Given the description of an element on the screen output the (x, y) to click on. 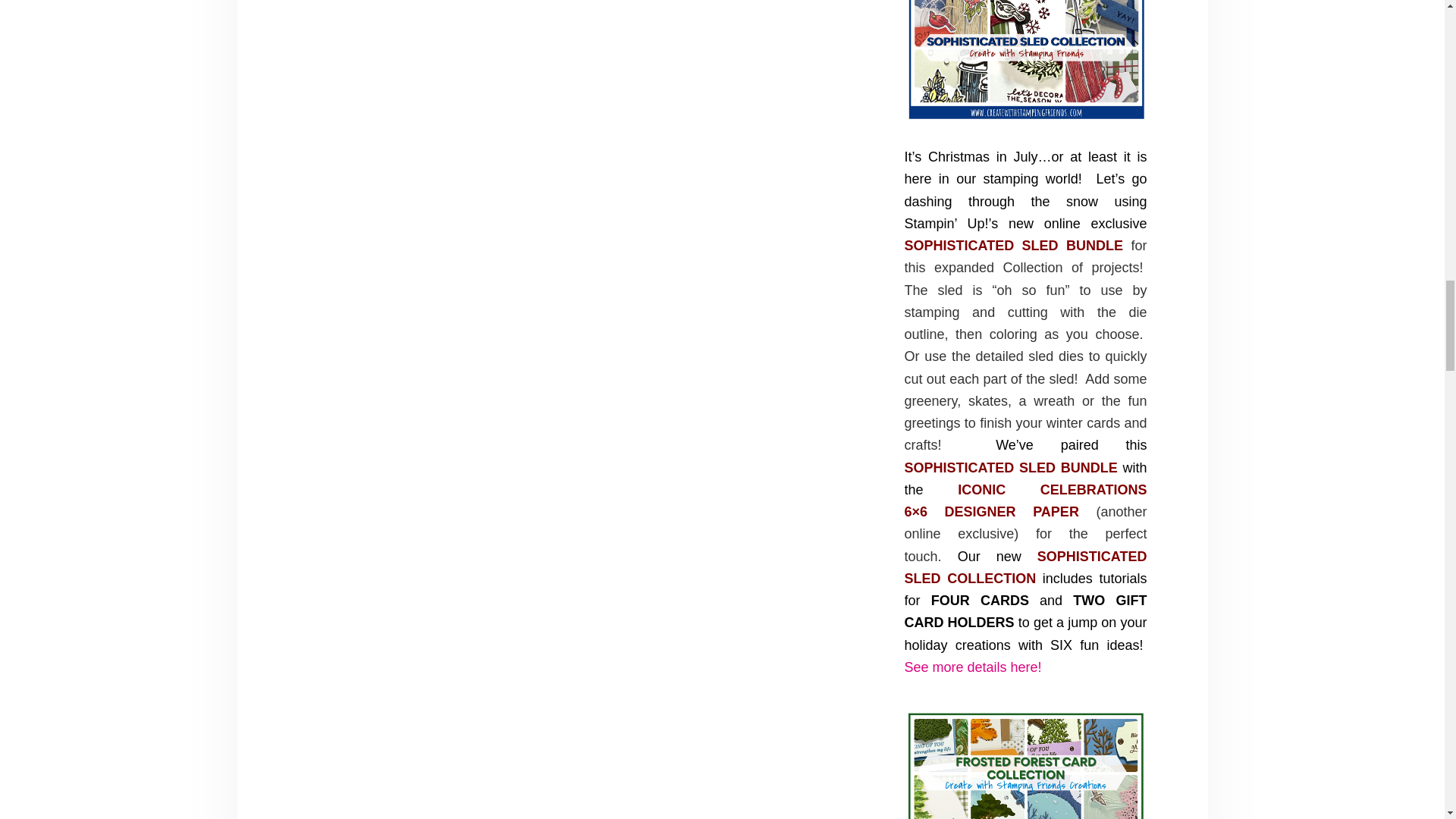
See more details here! (972, 667)
